Given the description of an element on the screen output the (x, y) to click on. 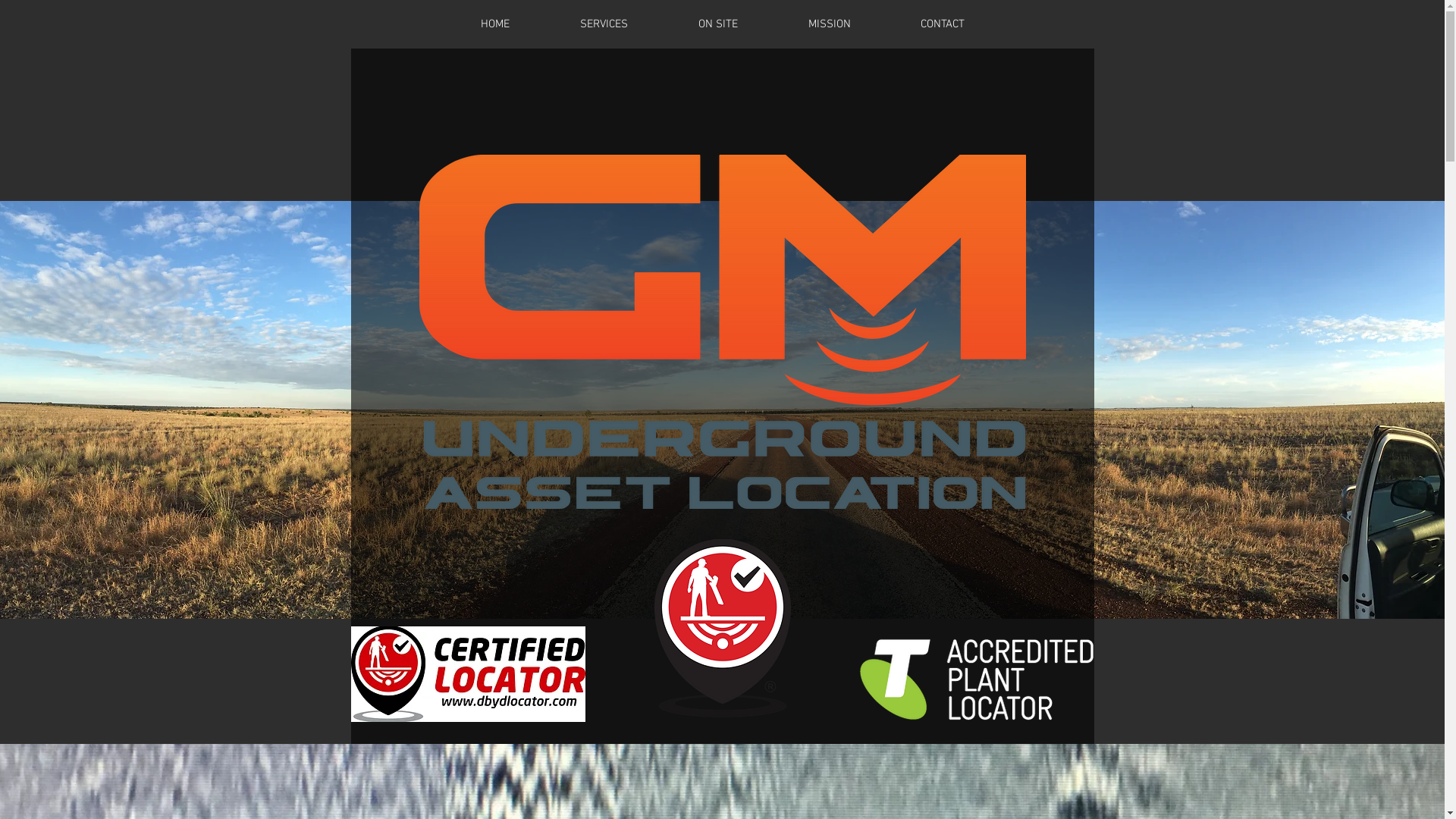
ON SITE Element type: text (717, 24)
MISSION Element type: text (829, 24)
CONTACT Element type: text (942, 24)
HOME Element type: text (495, 24)
SERVICES Element type: text (603, 24)
